Given the description of an element on the screen output the (x, y) to click on. 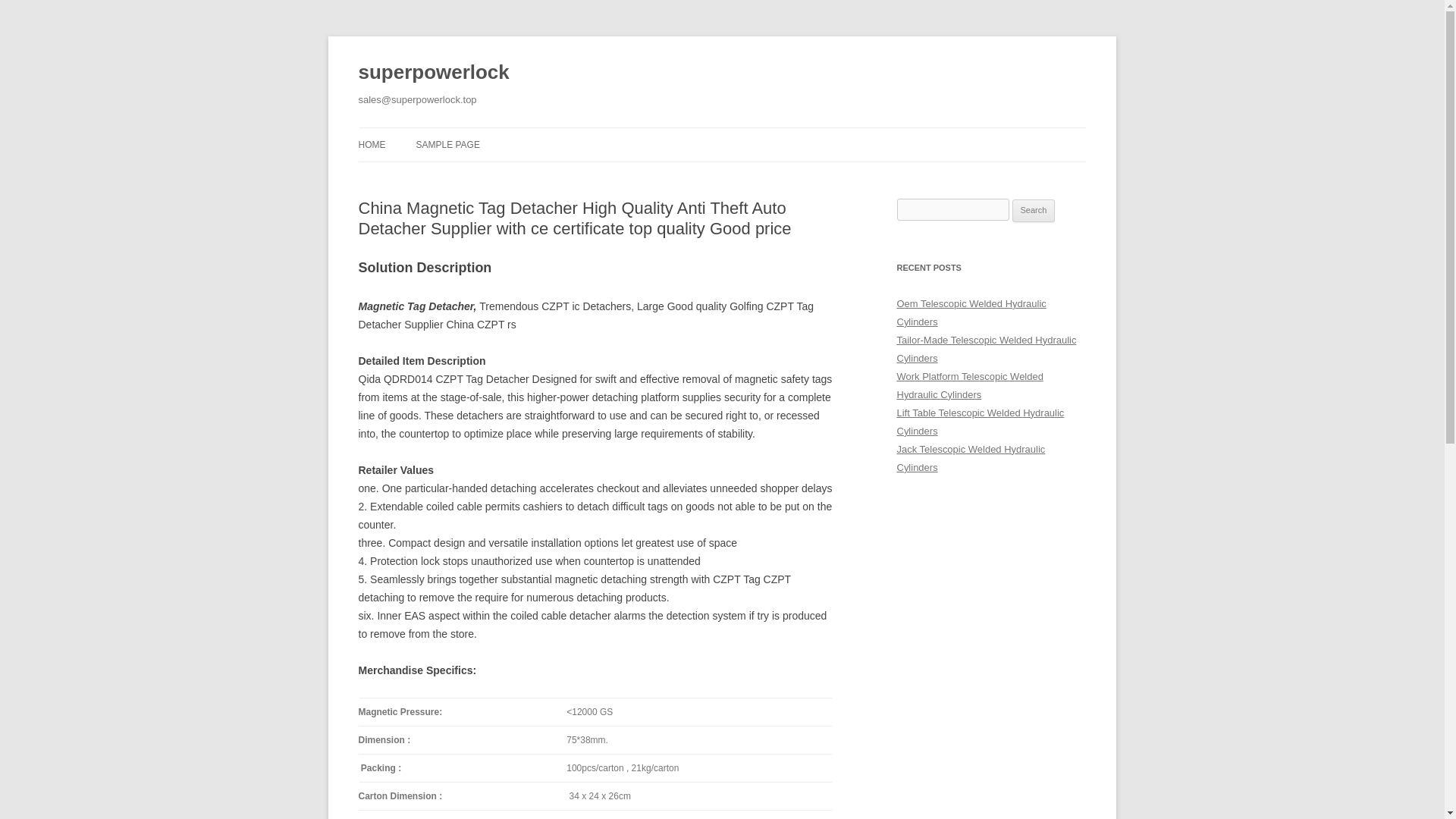
Lift Table Telescopic Welded Hydraulic Cylinders (980, 421)
SAMPLE PAGE (446, 144)
superpowerlock (433, 72)
Work Platform Telescopic Welded Hydraulic Cylinders (969, 385)
Search (1033, 210)
Search (1033, 210)
Oem Telescopic Welded Hydraulic Cylinders (970, 312)
Jack Telescopic Welded Hydraulic Cylinders (970, 458)
superpowerlock (433, 72)
Tailor-Made Telescopic Welded Hydraulic Cylinders (985, 348)
